Given the description of an element on the screen output the (x, y) to click on. 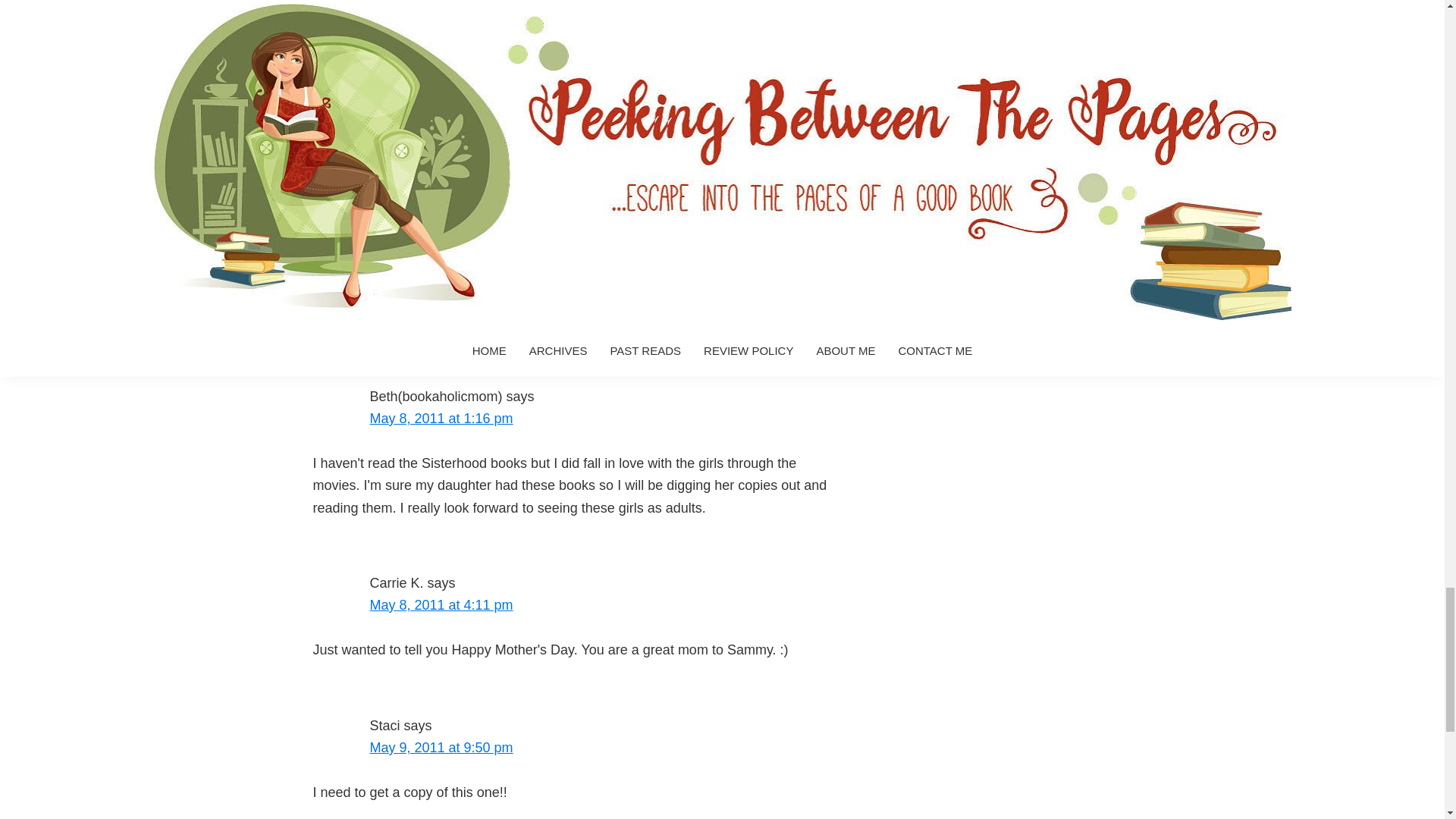
May 8, 2011 at 1:16 pm (441, 418)
May 8, 2011 at 4:11 pm (441, 604)
May 7, 2011 at 9:04 pm (441, 89)
May 8, 2011 at 1:10 pm (441, 253)
